Given the description of an element on the screen output the (x, y) to click on. 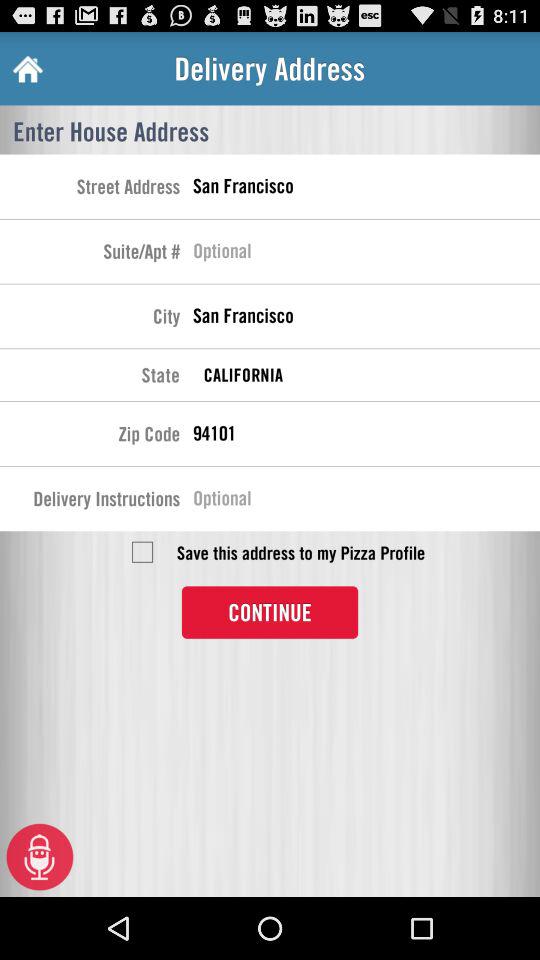
select save this address option (142, 552)
